Given the description of an element on the screen output the (x, y) to click on. 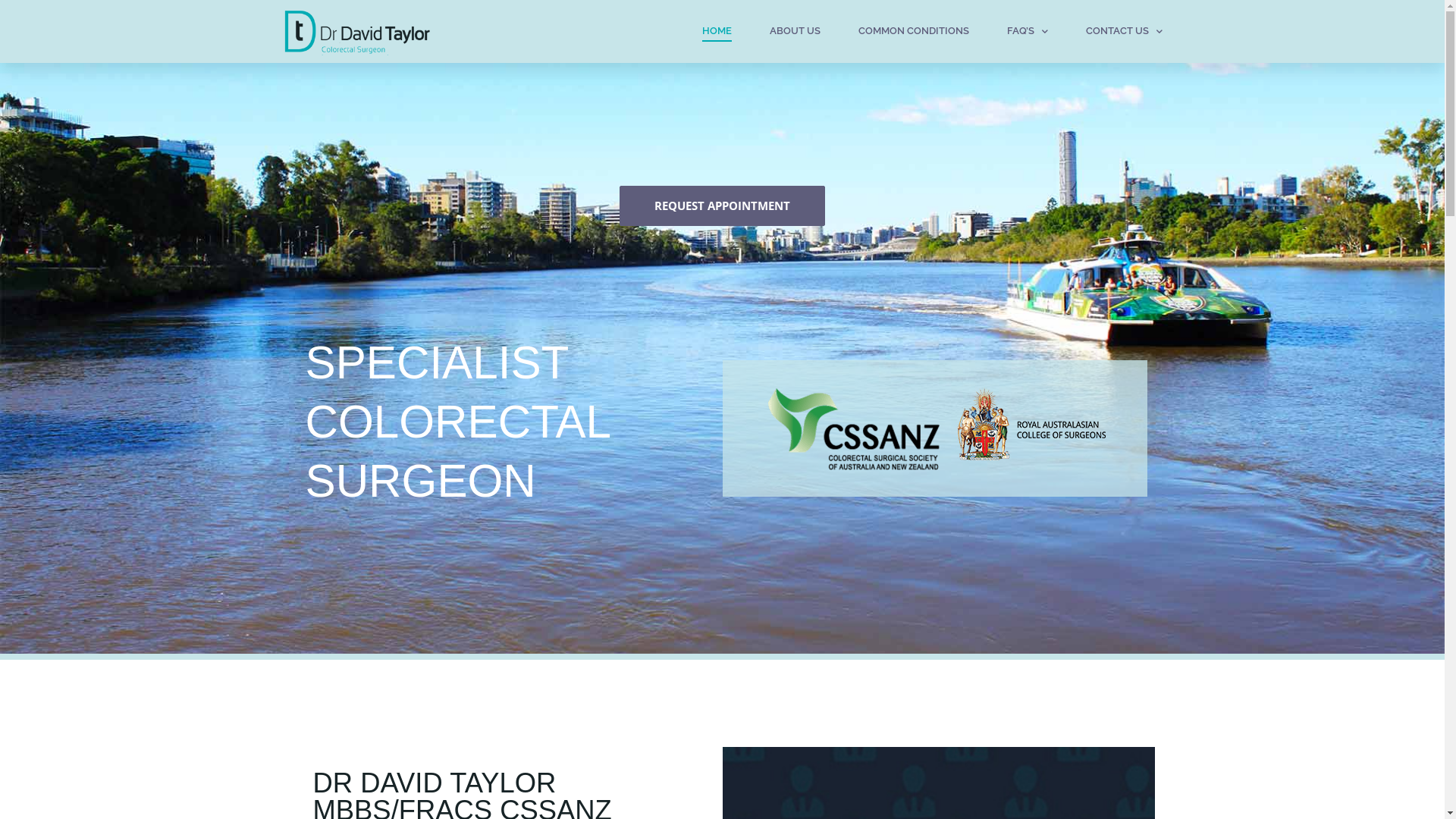
HOME Element type: text (716, 30)
REQUEST APPOINTMENT Element type: text (722, 205)
ABOUT US Element type: text (793, 30)
CONTACT US Element type: text (1123, 30)
COMMON CONDITIONS Element type: text (913, 30)
